Given the description of an element on the screen output the (x, y) to click on. 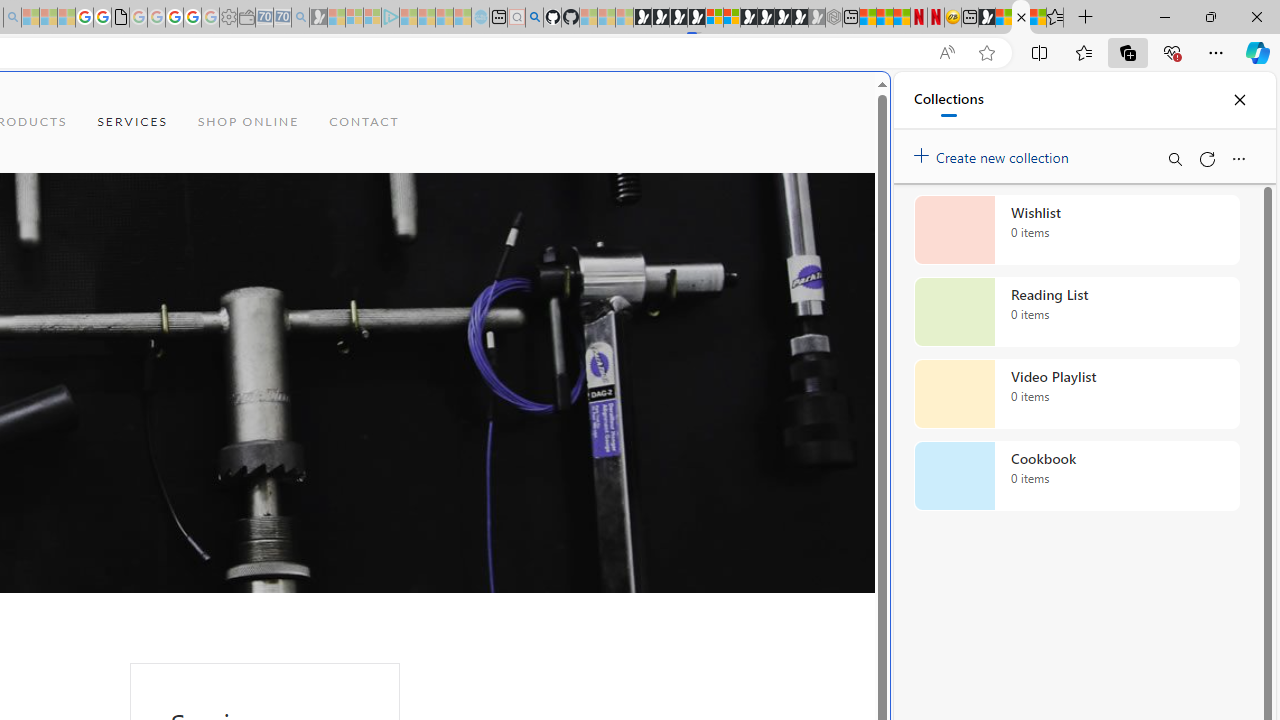
Cookbook collection, 0 items (1076, 475)
CONTACT (363, 122)
